Given the description of an element on the screen output the (x, y) to click on. 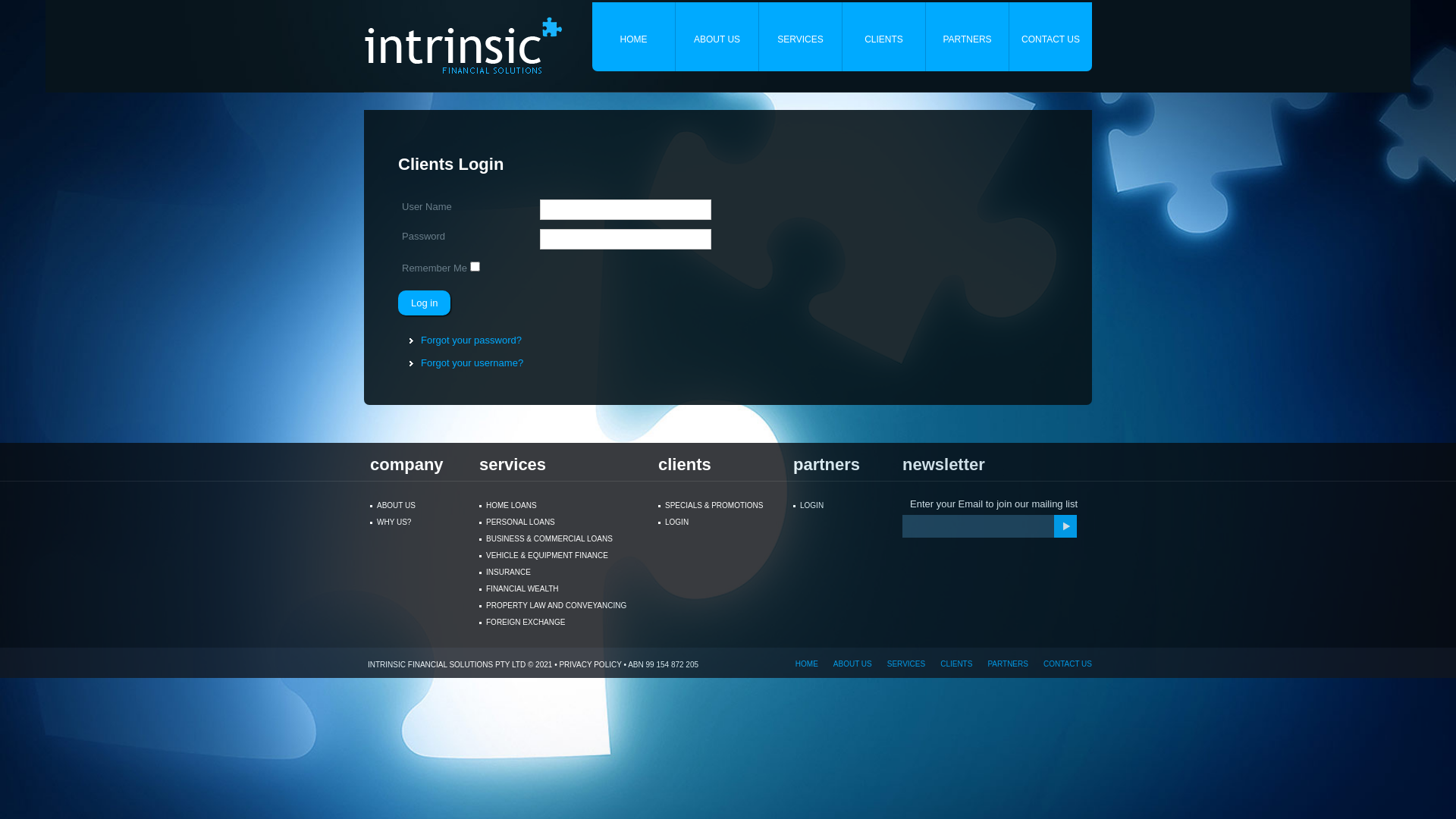
PARTNERS Element type: text (966, 36)
ABOUT US Element type: text (845, 663)
INSURANCE Element type: text (559, 572)
LOGIN Element type: text (838, 505)
SERVICES Element type: text (800, 36)
BUSINESS & COMMERCIAL LOANS Element type: text (559, 538)
ABOUT US Element type: text (716, 36)
HOME Element type: text (633, 36)
HOME Element type: text (799, 663)
SPECIALS & PROMOTIONS Element type: text (716, 505)
  Element type: text (1065, 525)
LOGIN Element type: text (716, 522)
HOME LOANS Element type: text (559, 505)
FOREIGN EXCHANGE Element type: text (559, 622)
Forgot your username? Element type: text (471, 362)
WHY US? Element type: text (415, 522)
ABOUT US Element type: text (415, 505)
PARTNERS Element type: text (1000, 663)
VEHICLE & EQUIPMENT FINANCE Element type: text (559, 555)
FINANCIAL WEALTH Element type: text (559, 588)
PROPERTY LAW AND CONVEYANCING Element type: text (559, 605)
PRIVACY POLICY Element type: text (589, 664)
PERSONAL LOANS Element type: text (559, 522)
Forgot your password? Element type: text (470, 339)
CONTACT US Element type: text (1060, 663)
CONTACT US Element type: text (1050, 36)
CLIENTS Element type: text (948, 663)
SERVICES Element type: text (898, 663)
Log in Element type: text (424, 302)
CLIENTS Element type: text (883, 36)
